Given the description of an element on the screen output the (x, y) to click on. 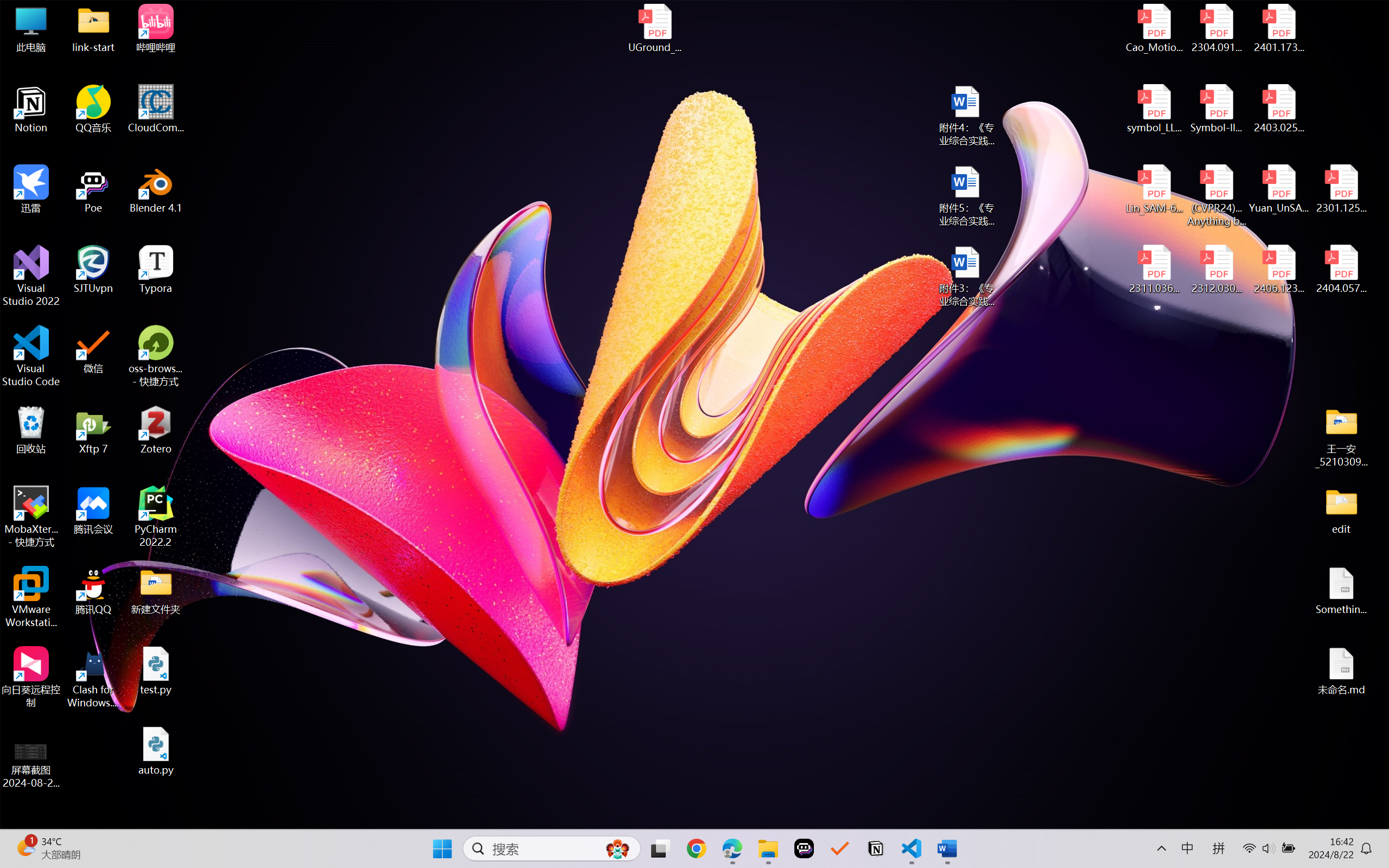
Visual Studio Code (20, 559)
New Text Document (467, 205)
Google Chrome (20, 146)
Action Center, 1 new notification (1372, 855)
Task Manager - 1 running window (356, 855)
